Given the description of an element on the screen output the (x, y) to click on. 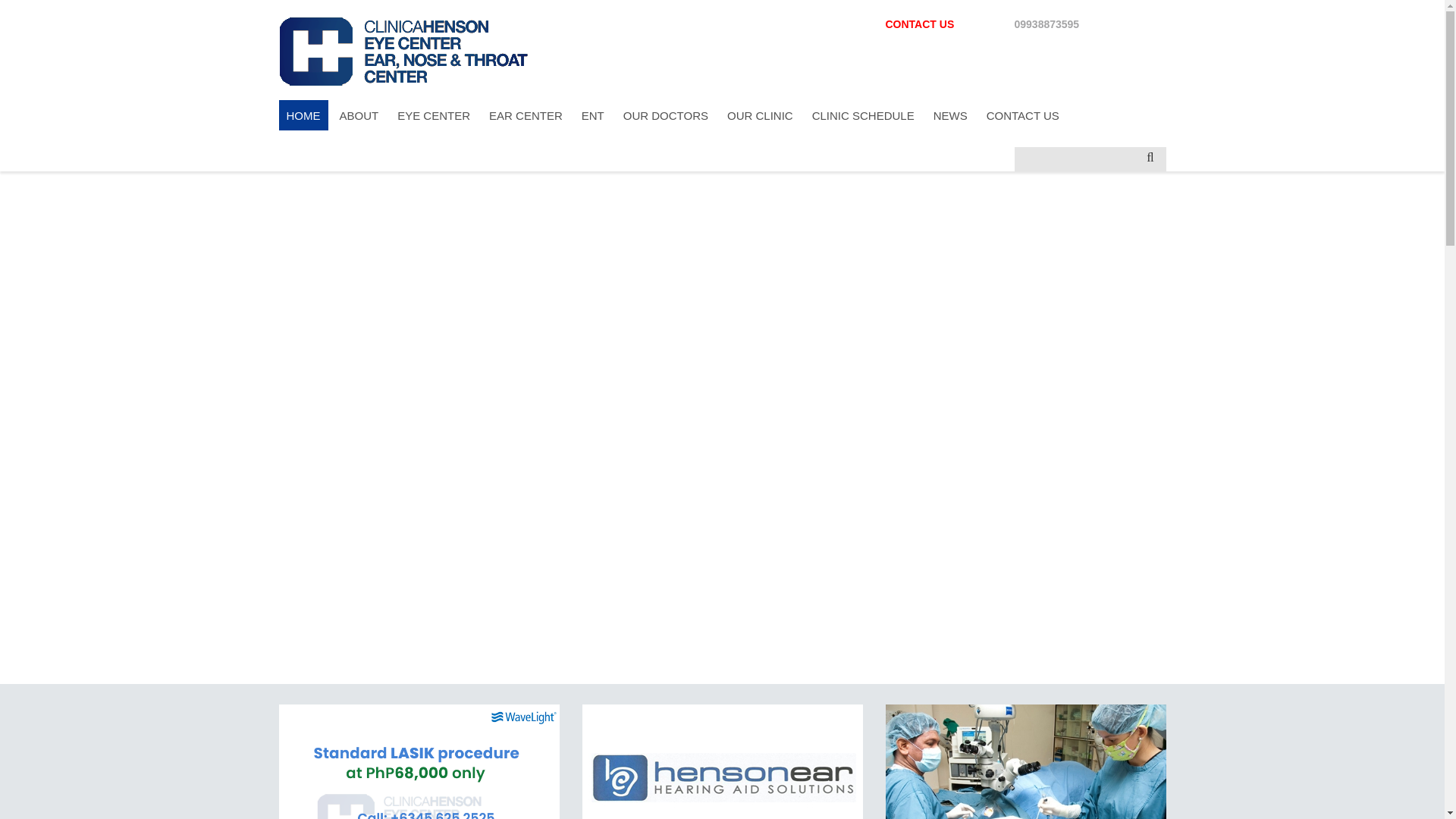
HOME (304, 114)
OUR DOCTORS (665, 114)
CONTACT US (1022, 114)
EYE CENTER (433, 114)
ABOUT (359, 114)
CLINIC SCHEDULE (863, 114)
NEWS (950, 114)
ENT (592, 114)
OUR CLINIC (759, 114)
EAR CENTER (525, 114)
